Given the description of an element on the screen output the (x, y) to click on. 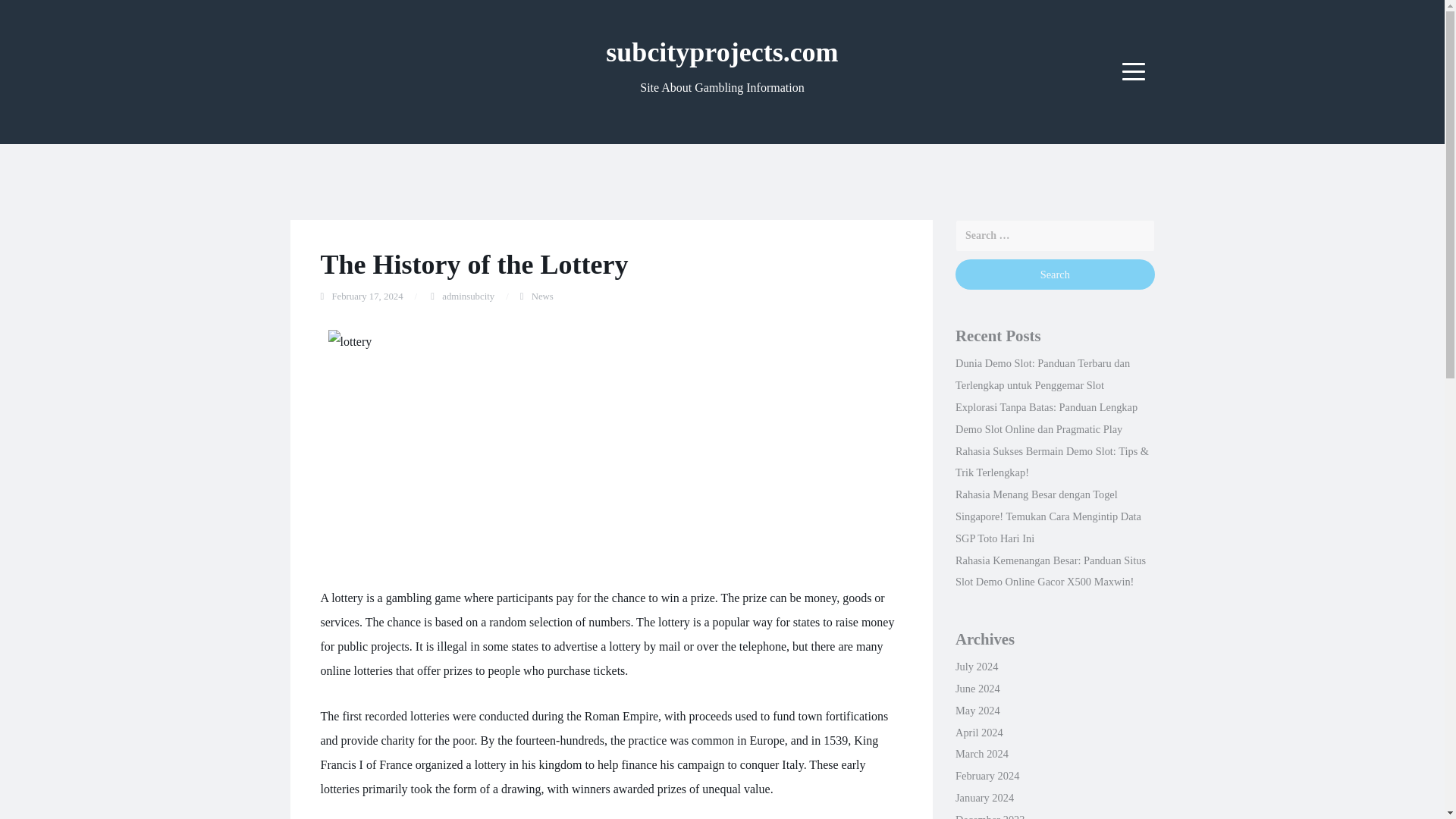
Menu (1133, 71)
July 2024 (976, 666)
Search (1054, 274)
February 2024 (987, 775)
March 2024 (982, 753)
April 2024 (979, 732)
adminsubcity (468, 296)
News (542, 296)
January 2024 (984, 797)
February 17, 2024 (367, 296)
Search (1054, 274)
December 2023 (990, 816)
